Given the description of an element on the screen output the (x, y) to click on. 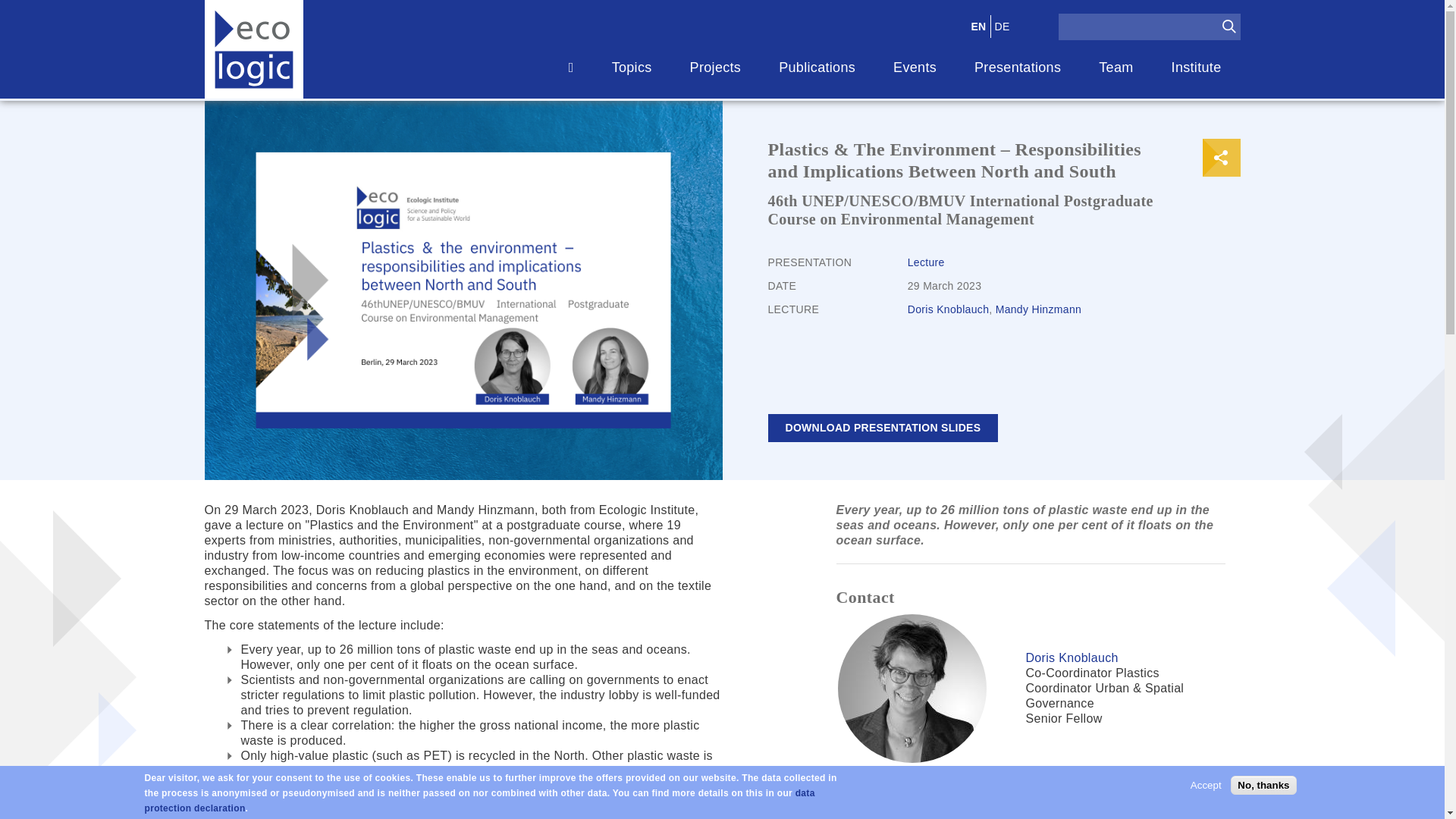
Projects (715, 67)
Topics (631, 67)
Share to Facebook (1221, 157)
Team (1115, 67)
Apply filter (1228, 26)
Publications (817, 67)
Events (915, 67)
Home (253, 49)
Presentations (1017, 67)
